Given the description of an element on the screen output the (x, y) to click on. 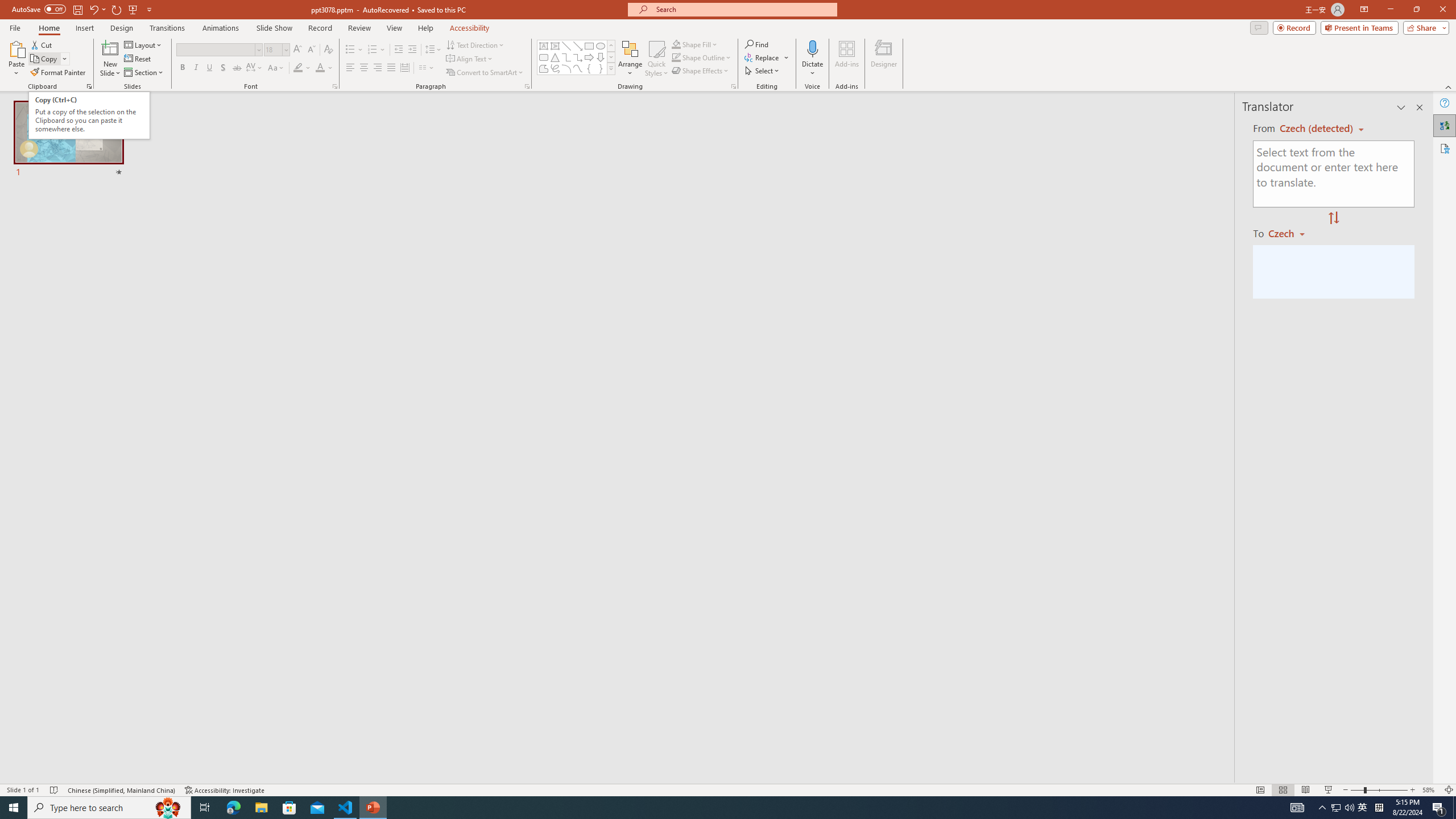
Paste (16, 58)
Center (363, 67)
Curve (577, 68)
Isosceles Triangle (554, 57)
Paste (16, 48)
Shapes (611, 68)
Numbering (372, 49)
Align Left (349, 67)
Review (359, 28)
AutoSave (38, 9)
Vertical Text Box (554, 45)
Translator (1444, 125)
Format Object... (733, 85)
